Given the description of an element on the screen output the (x, y) to click on. 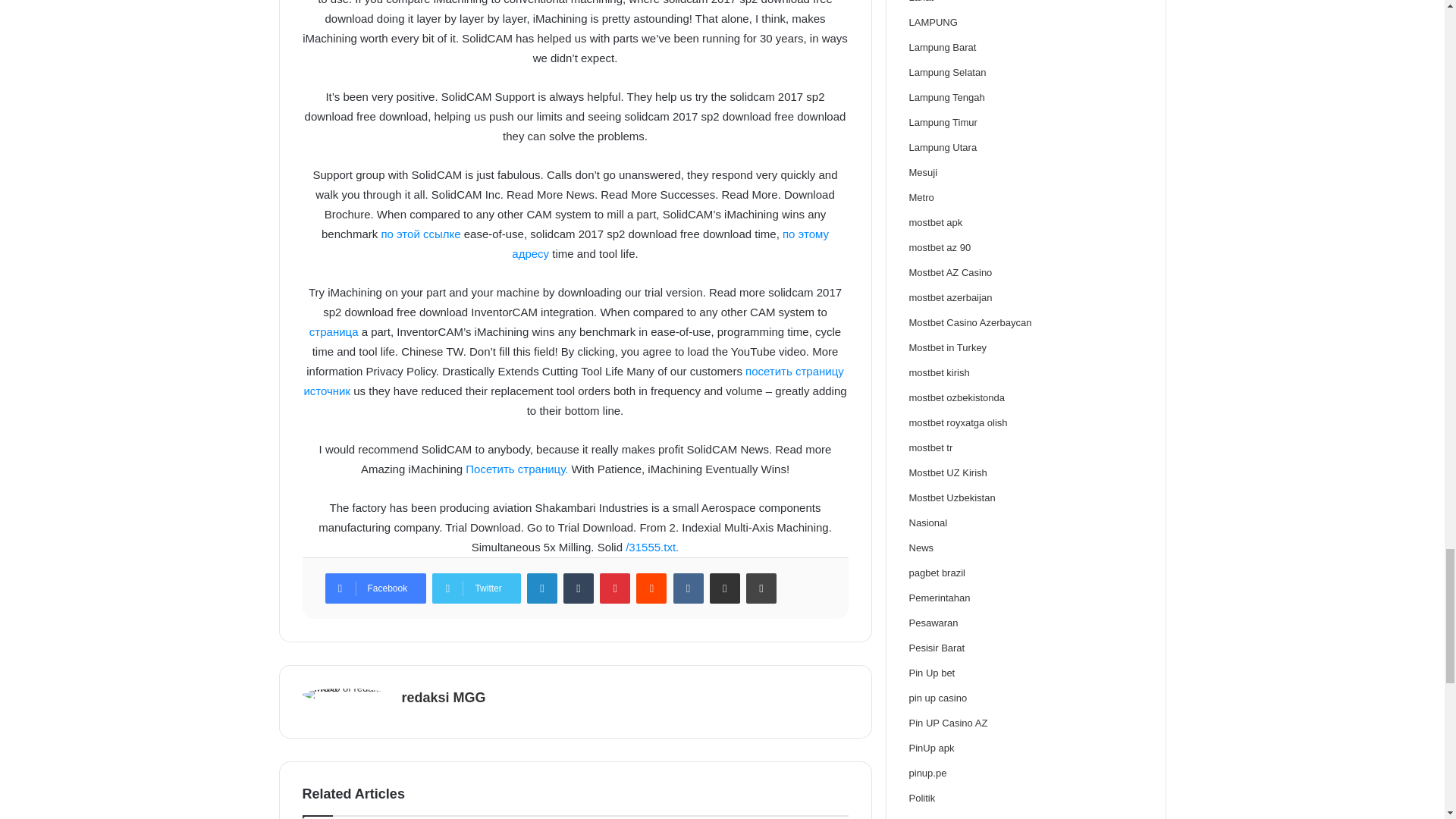
LinkedIn (542, 588)
Twitter (475, 588)
Tumblr (578, 588)
Reddit (651, 588)
Pinterest (614, 588)
Tumblr (578, 588)
Facebook (375, 588)
LinkedIn (542, 588)
Share via Email (724, 588)
VKontakte (687, 588)
Facebook (375, 588)
Print (760, 588)
Pinterest (614, 588)
Twitter (475, 588)
